Given the description of an element on the screen output the (x, y) to click on. 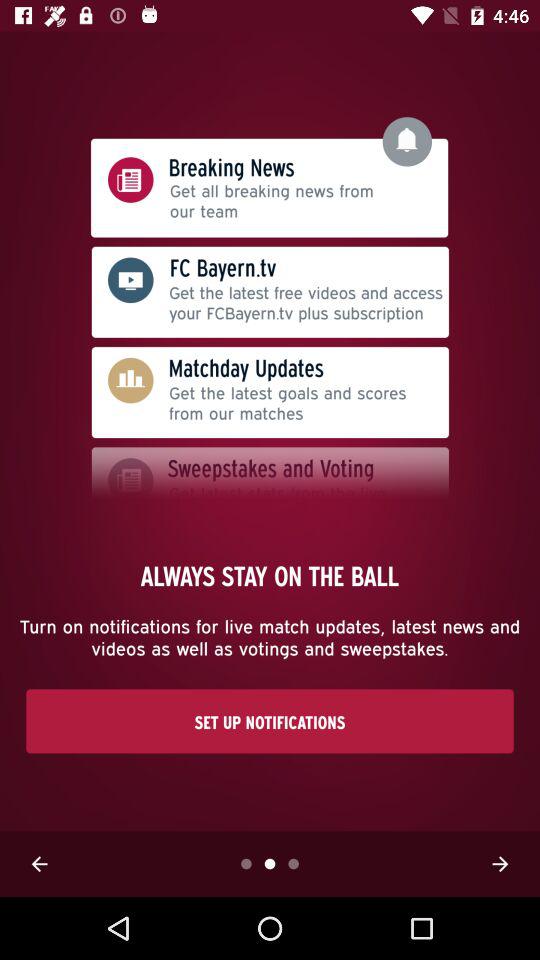
go to next (500, 864)
